Given the description of an element on the screen output the (x, y) to click on. 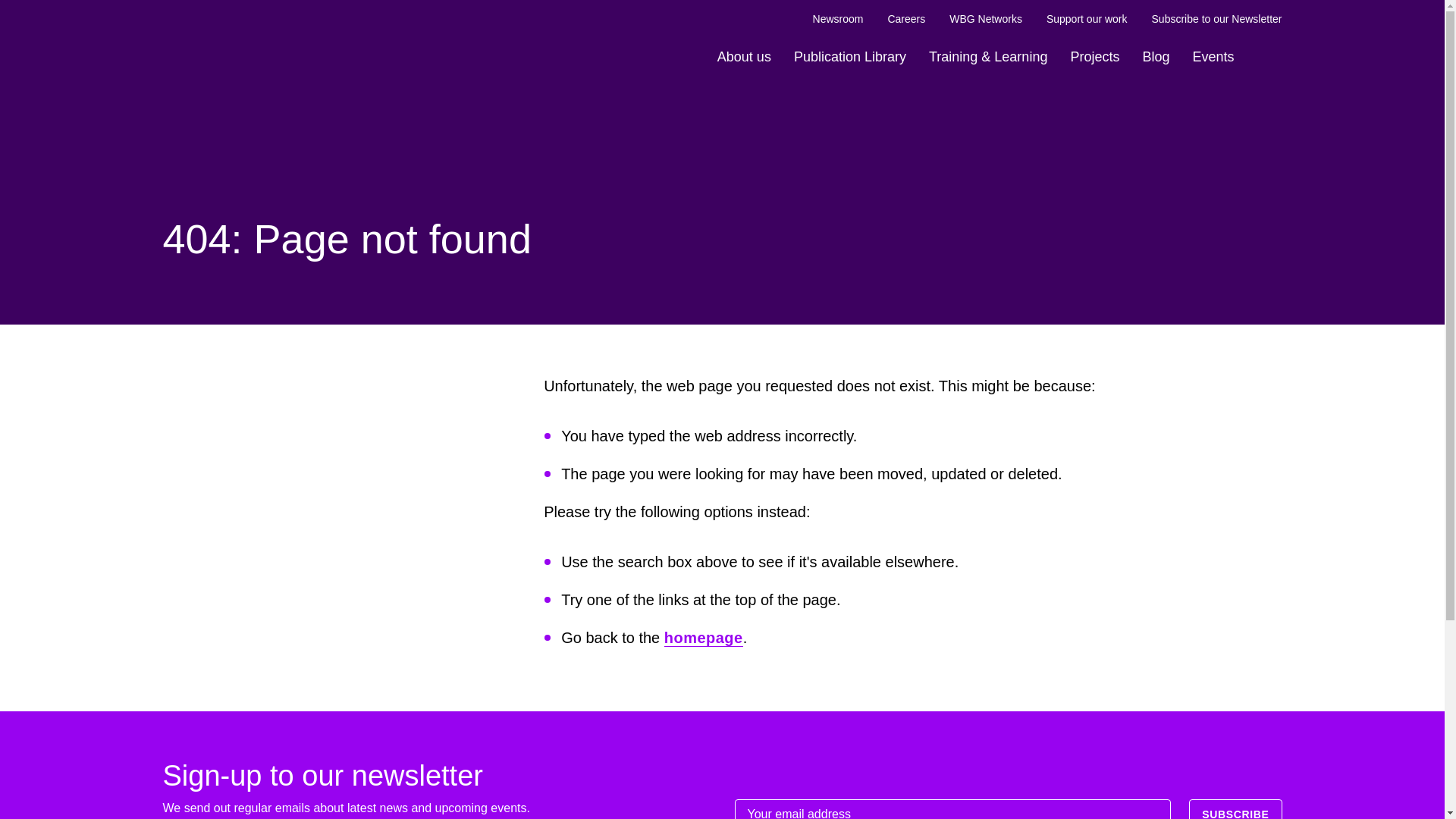
Projects (1093, 56)
homepage (702, 638)
Publication Library (850, 56)
WBG Networks (985, 19)
Support our work (1086, 19)
Events (1212, 56)
SUBSCRIBE (1235, 809)
Newsroom (837, 19)
Blog (1155, 56)
Go to homepage (230, 33)
